Given the description of an element on the screen output the (x, y) to click on. 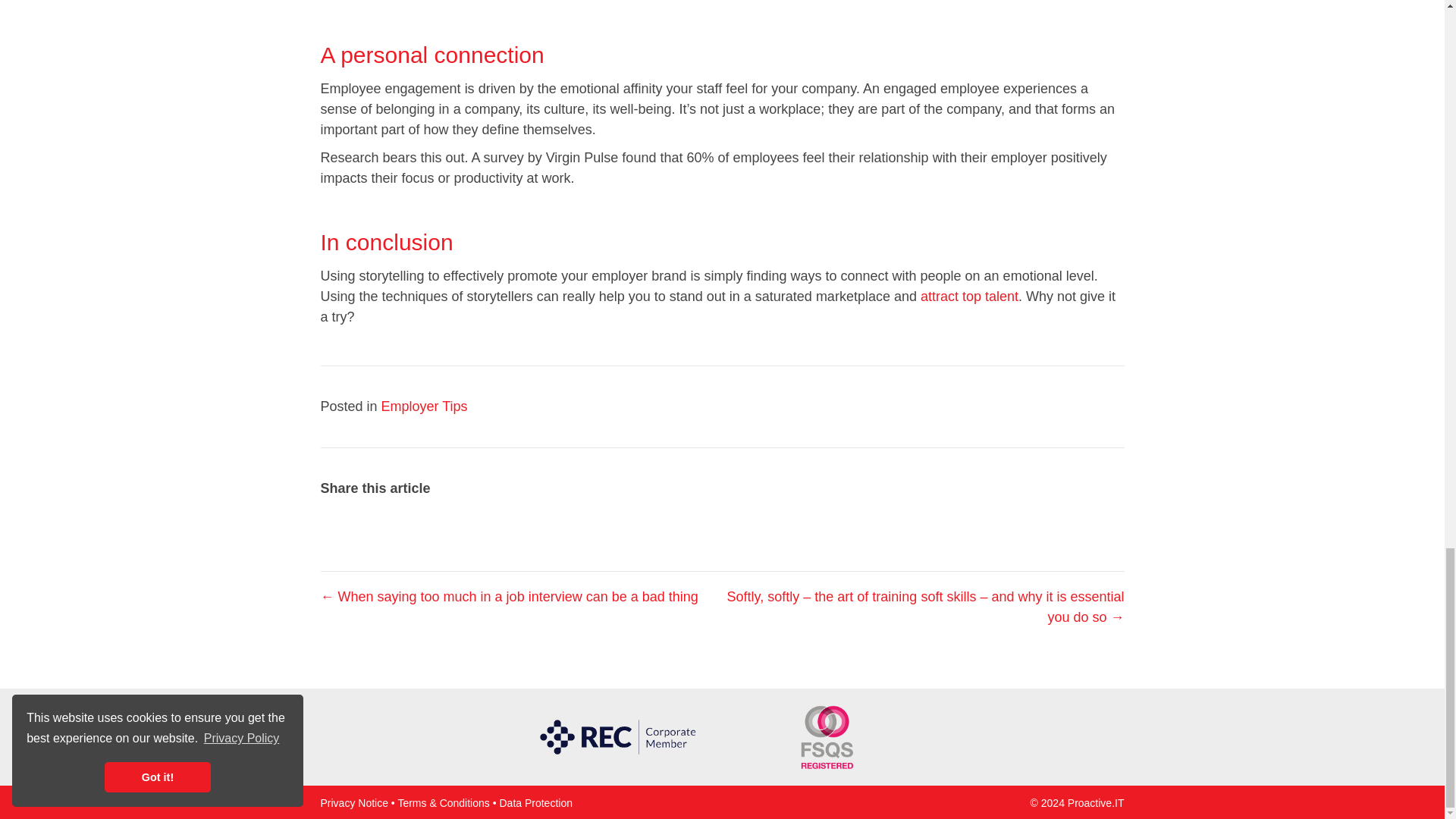
Employer Tips (424, 406)
attract top talent (968, 296)
Privacy Notice (353, 802)
Data Protection (535, 802)
